Given the description of an element on the screen output the (x, y) to click on. 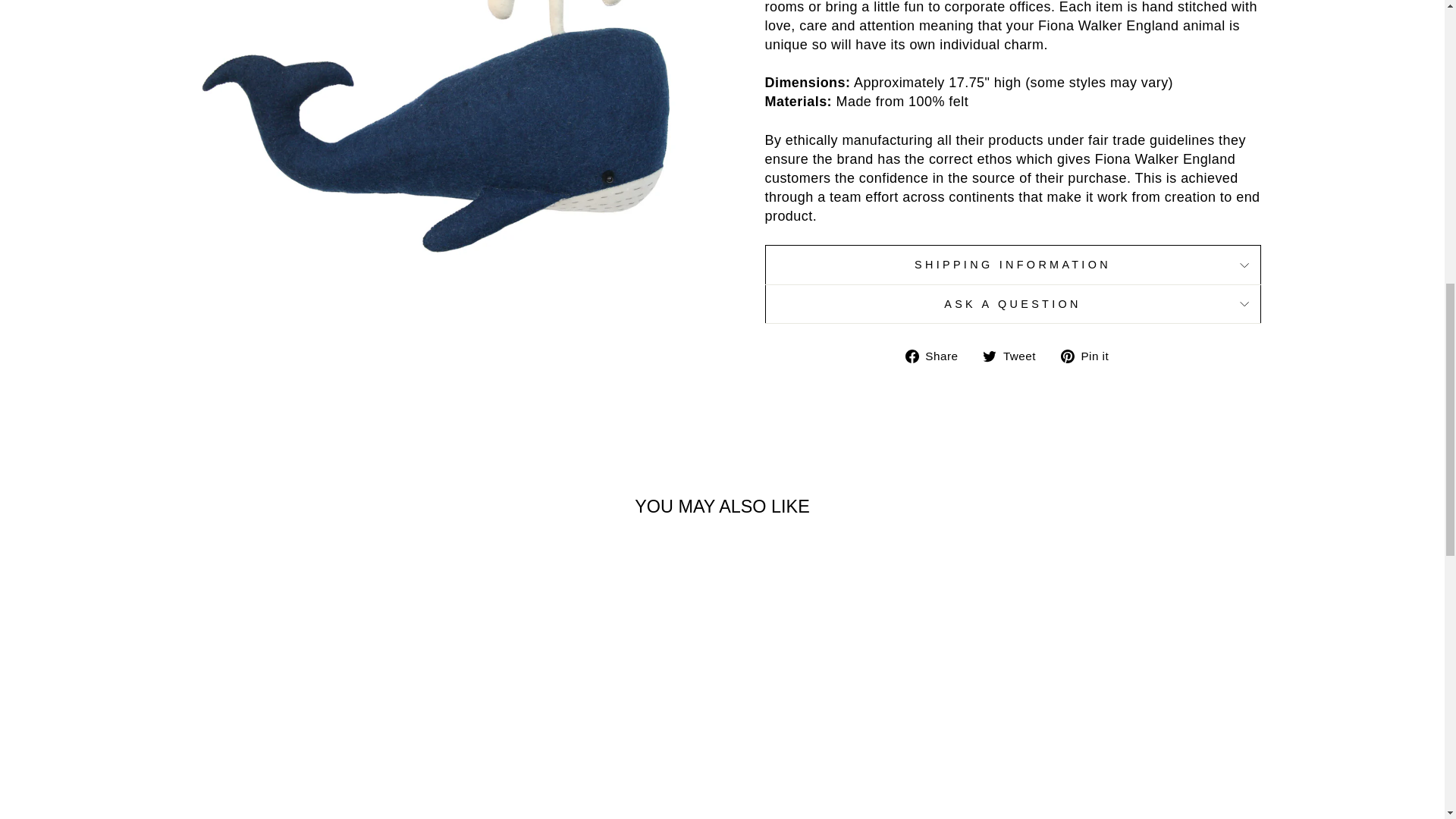
Share on Facebook (937, 355)
twitter (988, 356)
Pin on Pinterest (1090, 355)
Tweet on Twitter (1014, 355)
